Given the description of an element on the screen output the (x, y) to click on. 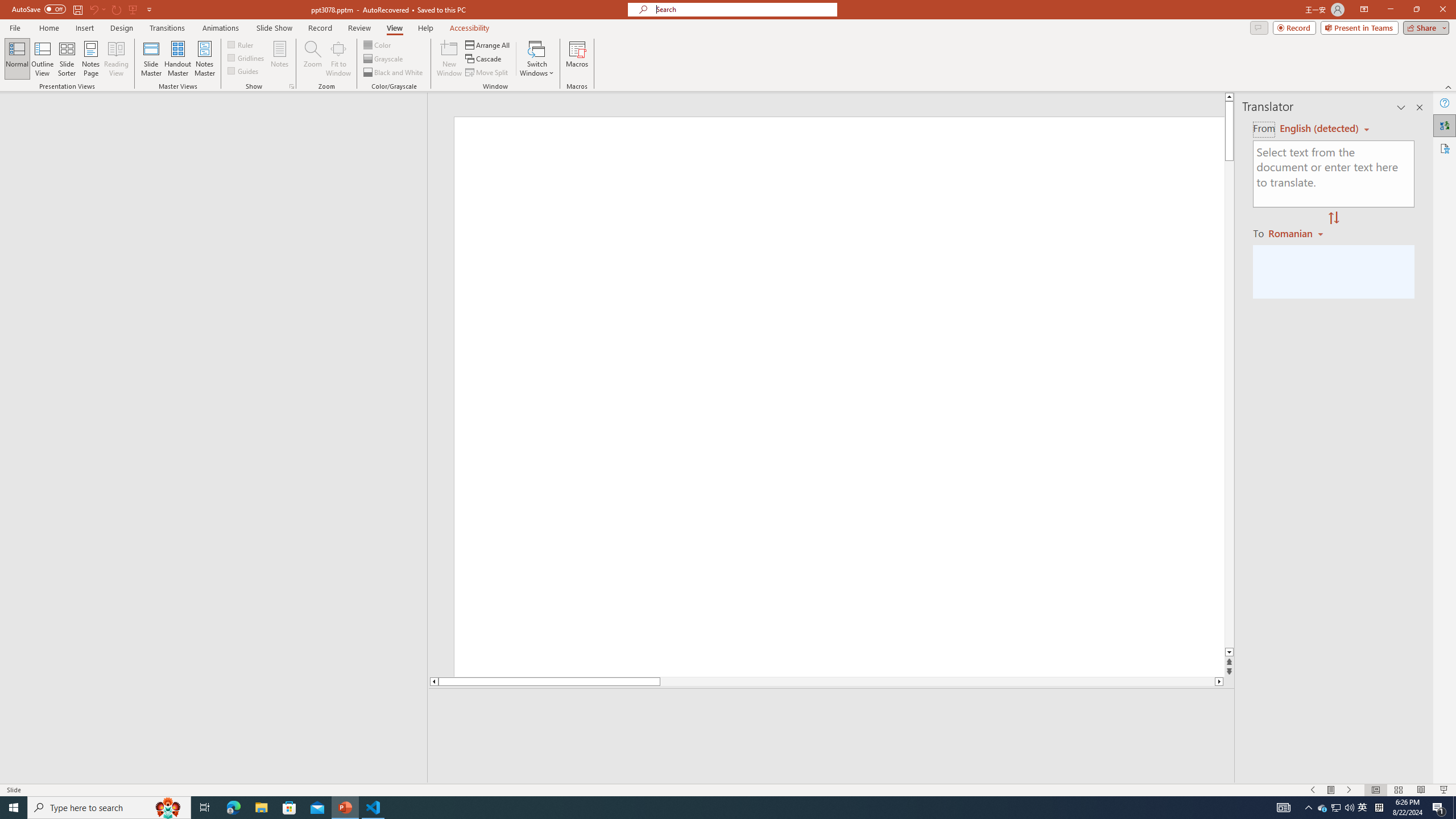
Handout Master (177, 58)
Gridlines (246, 56)
Slide Master (151, 58)
